Given the description of an element on the screen output the (x, y) to click on. 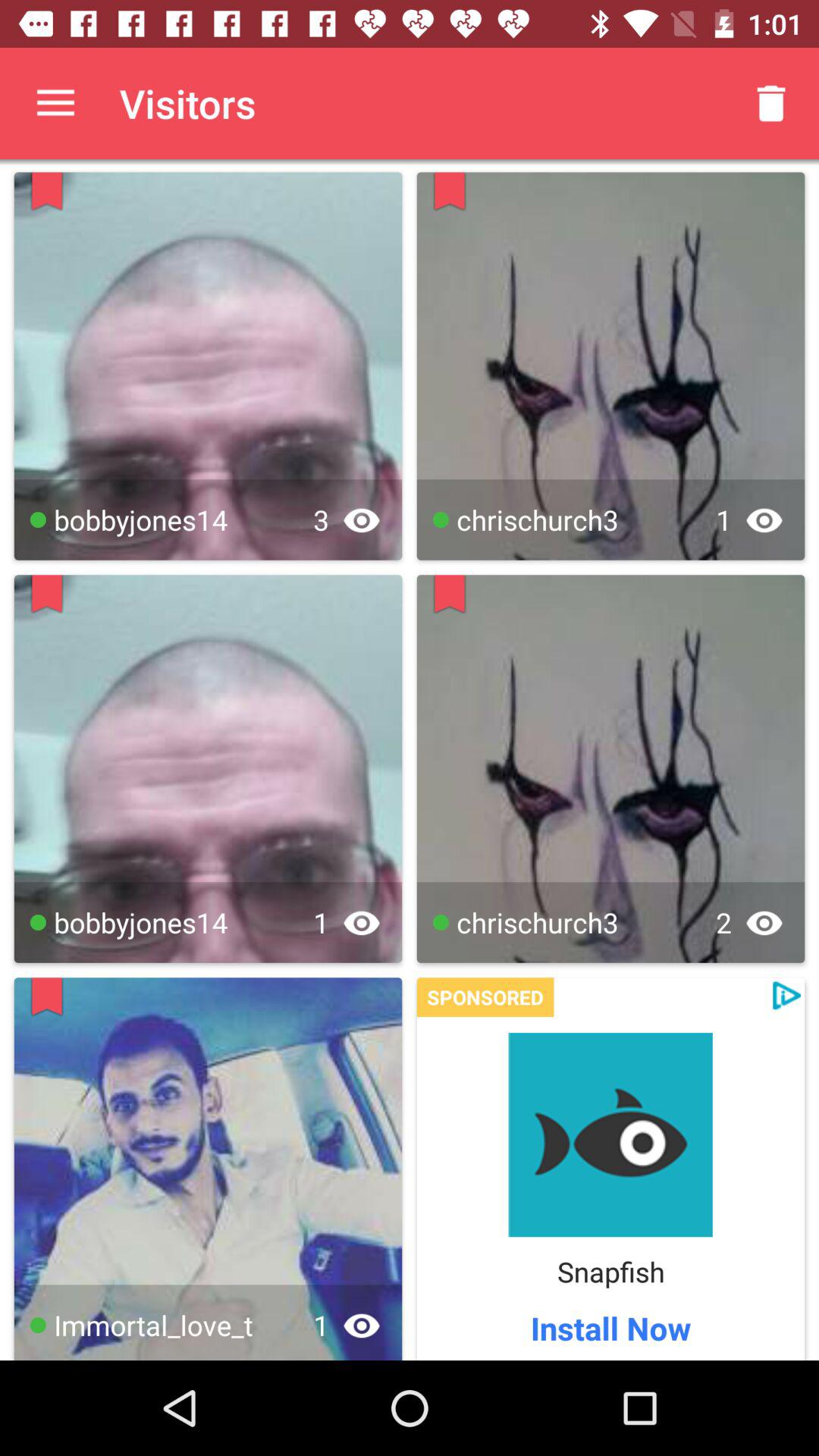
choose the install now app (610, 1327)
